Given the description of an element on the screen output the (x, y) to click on. 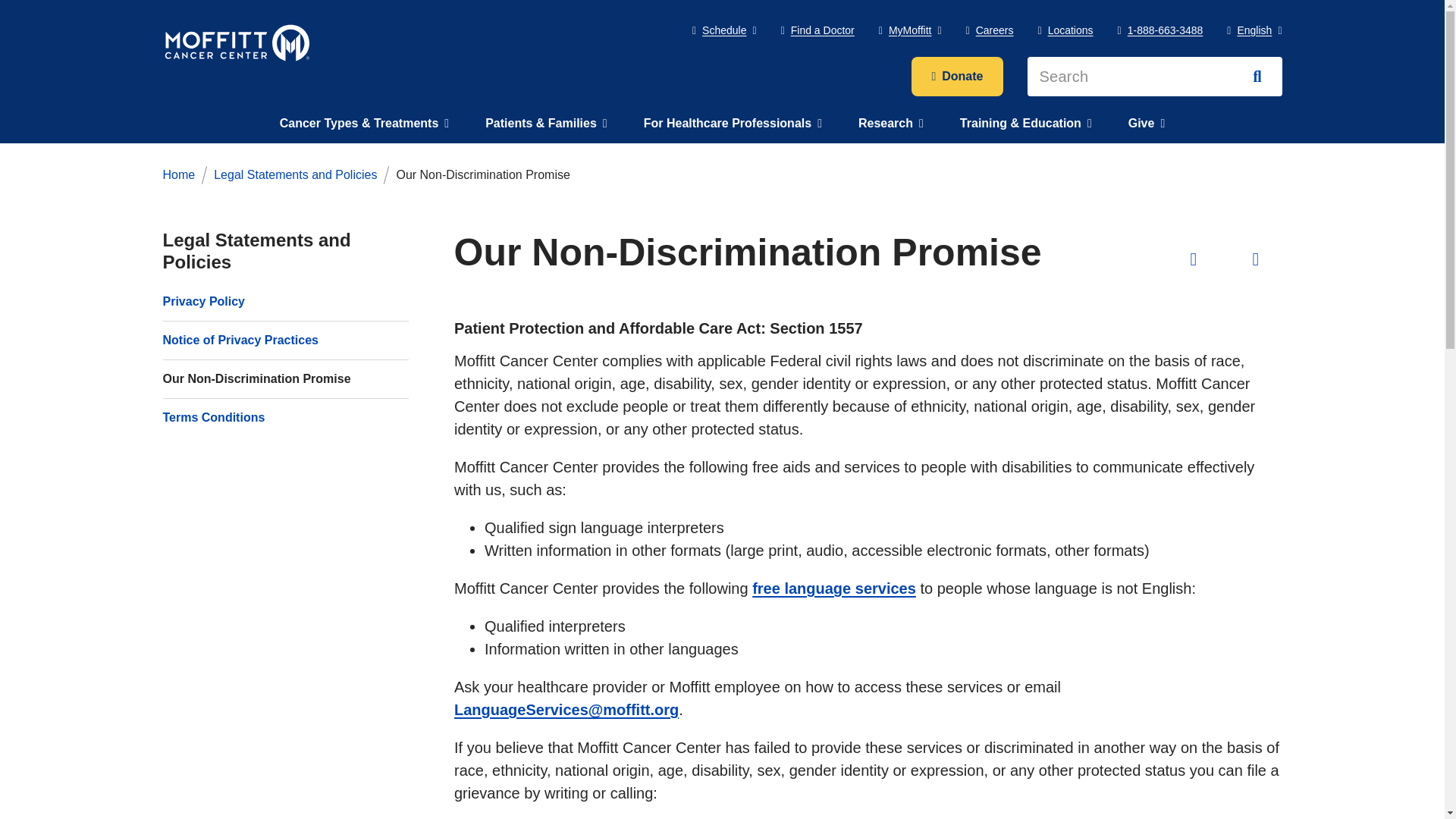
Find a Doctor (817, 30)
Call 1-888-663-3488 (1161, 30)
Careers (989, 30)
MyMoffitt (910, 30)
Donate (957, 76)
Schedule (725, 30)
Moffitt Cancer Center (236, 42)
1-888-663-3488 (1161, 30)
Locations (1064, 30)
